Given the description of an element on the screen output the (x, y) to click on. 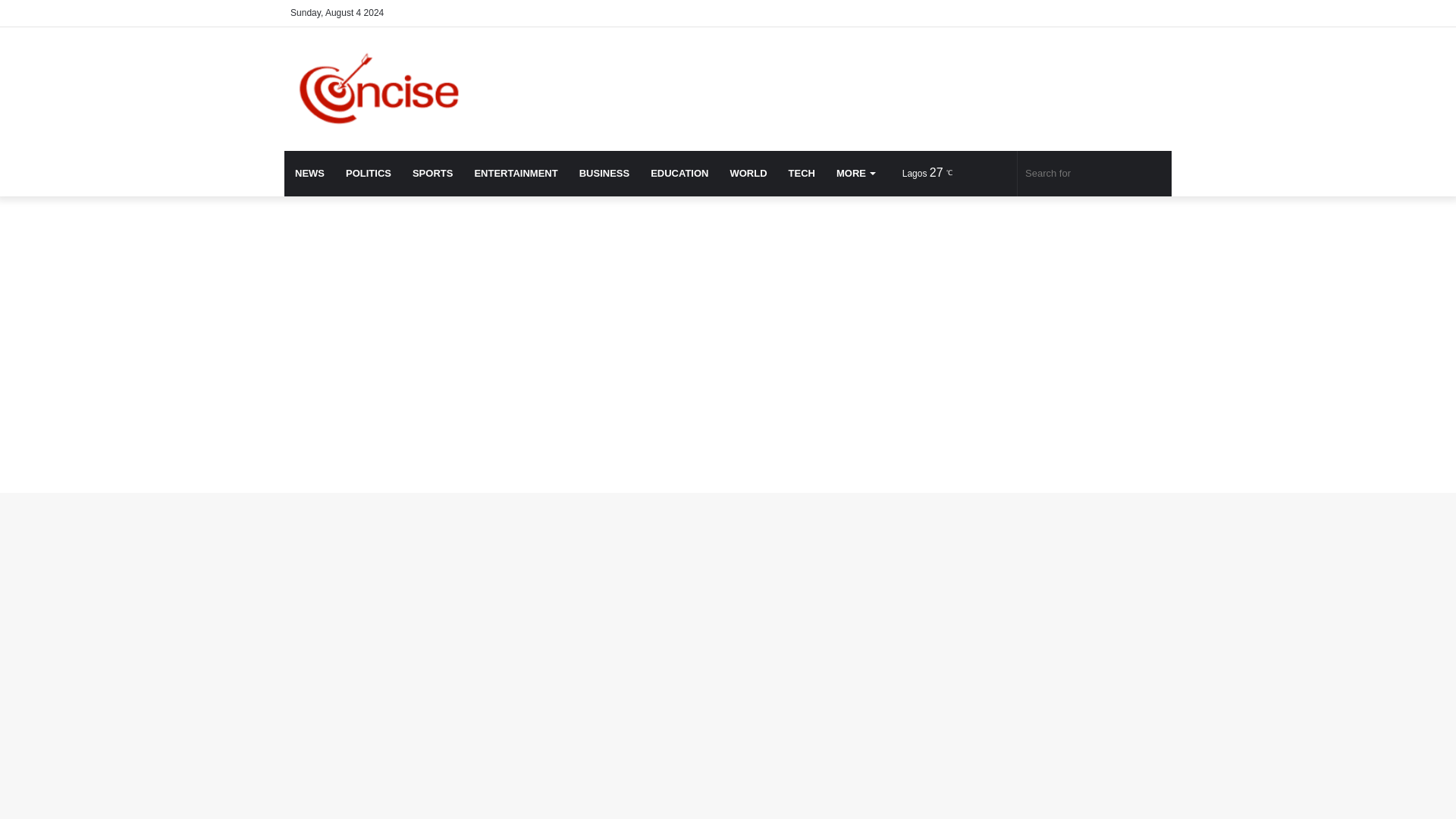
BUSINESS (604, 173)
Light Rain (930, 172)
NEWS (308, 173)
ENTERTAINMENT (515, 173)
POLITICS (367, 173)
Concise News (389, 88)
SPORTS (432, 173)
Search for (1094, 173)
WORLD (748, 173)
EDUCATION (679, 173)
